Given the description of an element on the screen output the (x, y) to click on. 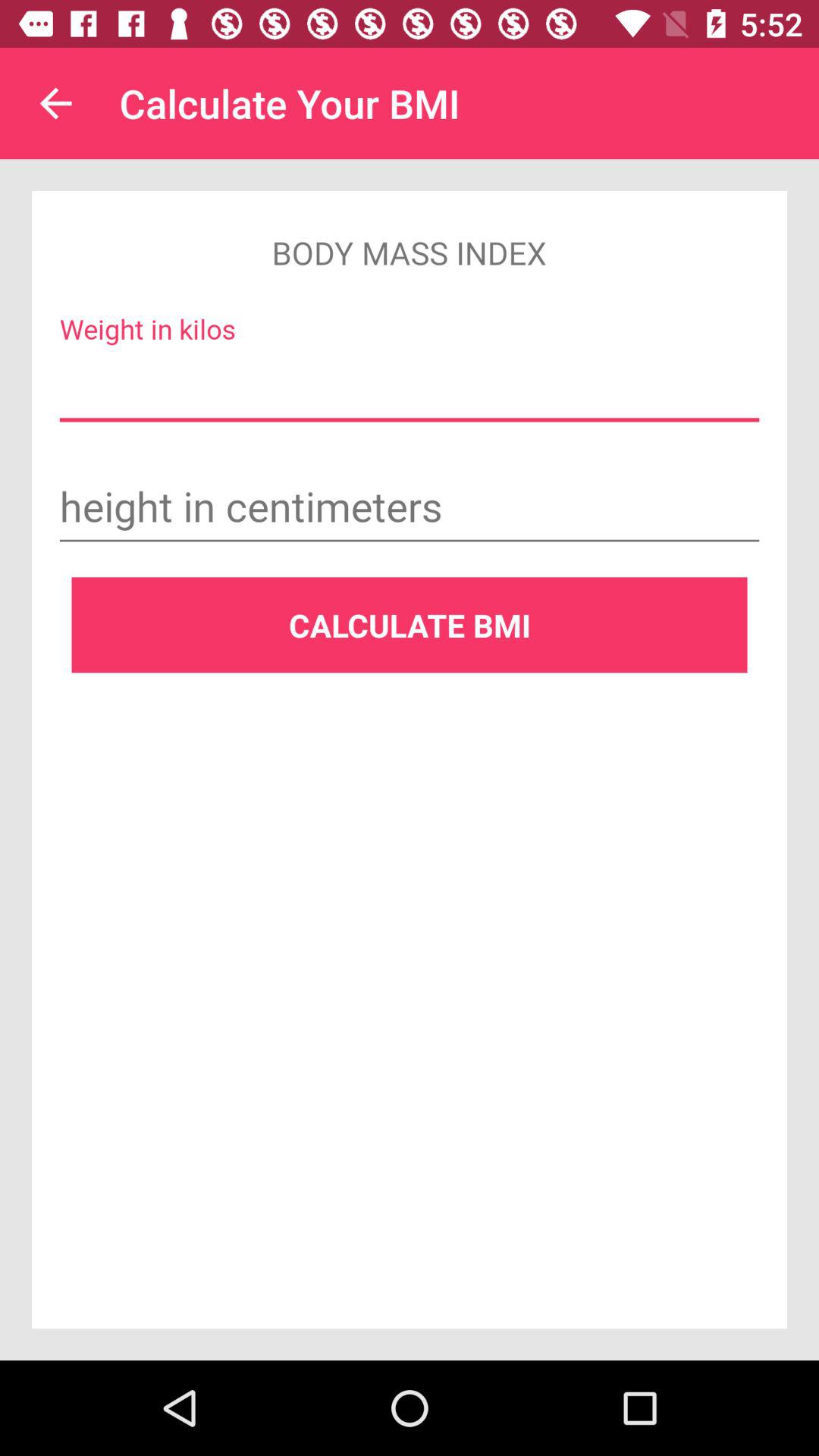
activate typing field (409, 508)
